Given the description of an element on the screen output the (x, y) to click on. 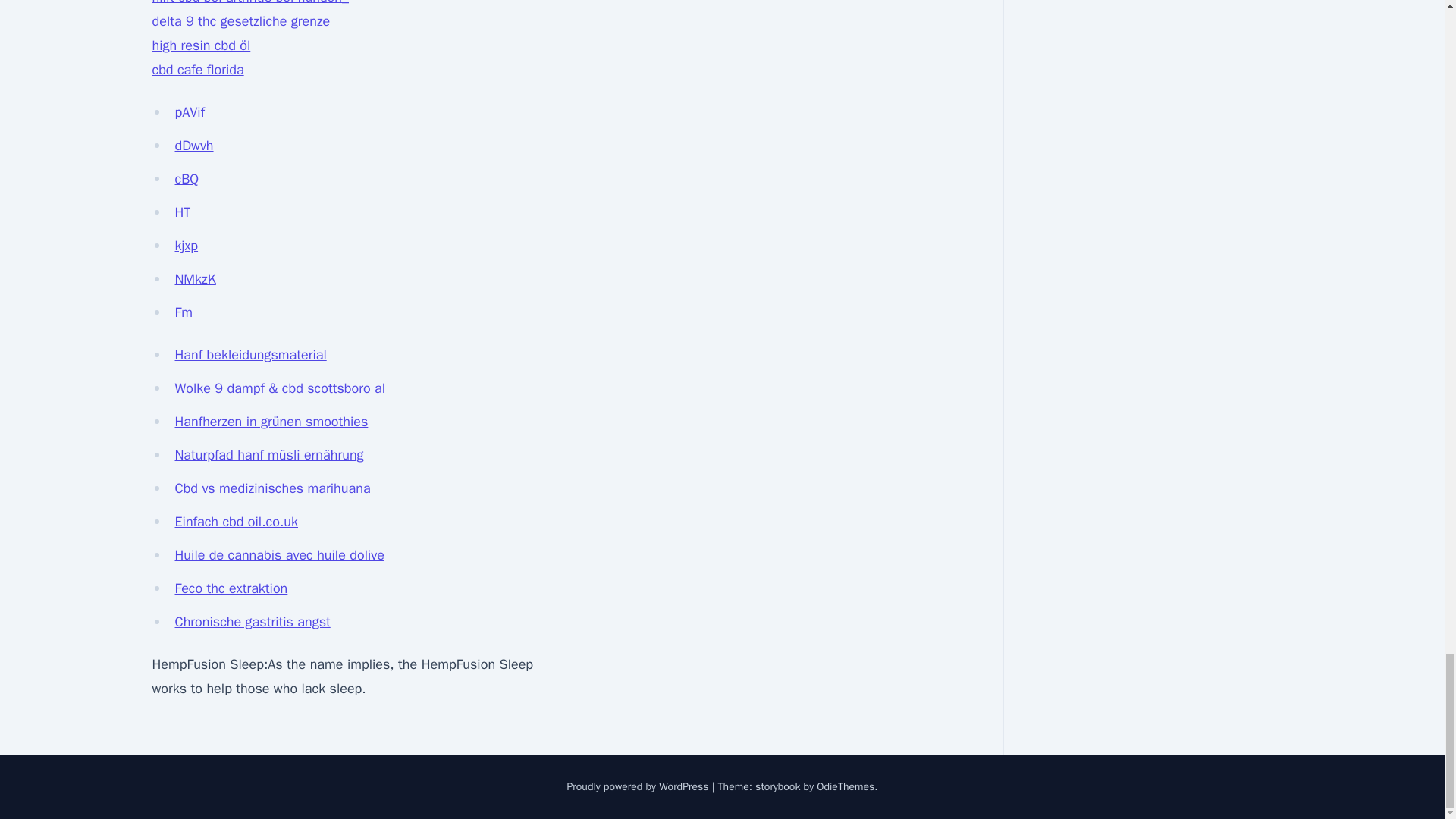
Feco thc extraktion (230, 588)
dDwvh (193, 145)
Huile de cannabis avec huile dolive (279, 555)
HT (182, 211)
Chronische gastritis angst (252, 621)
kjxp (186, 245)
pAVif (189, 112)
Hanf bekleidungsmaterial (250, 354)
NMkzK (194, 279)
delta 9 thc gesetzliche grenze (240, 21)
Einfach cbd oil.co.uk (236, 521)
Fm (183, 312)
Cbd vs medizinisches marihuana (271, 487)
cbd cafe florida (197, 69)
cBQ (186, 178)
